Given the description of an element on the screen output the (x, y) to click on. 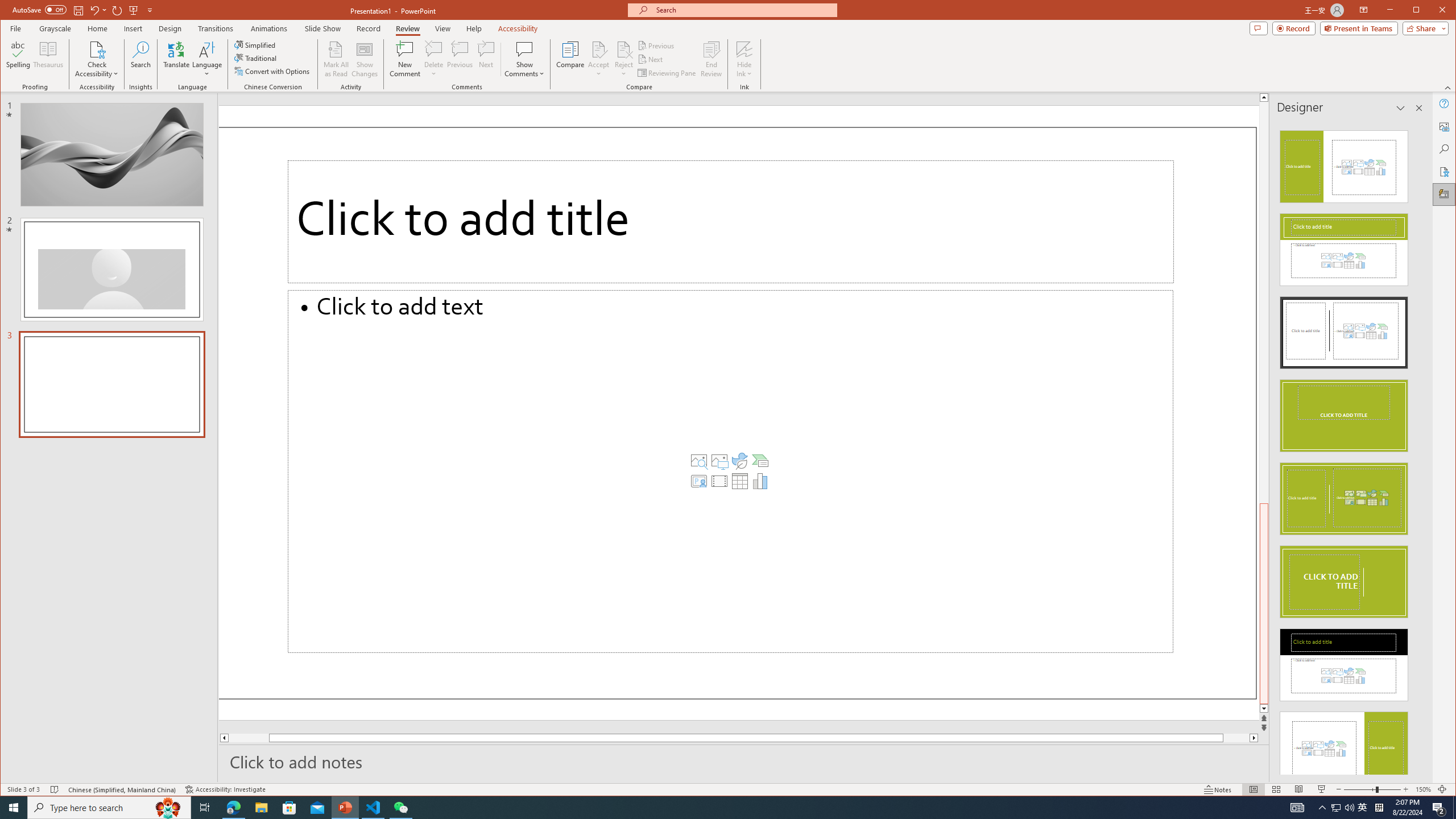
Zoom 150% (1422, 789)
Insert Cameo (698, 480)
